Given the description of an element on the screen output the (x, y) to click on. 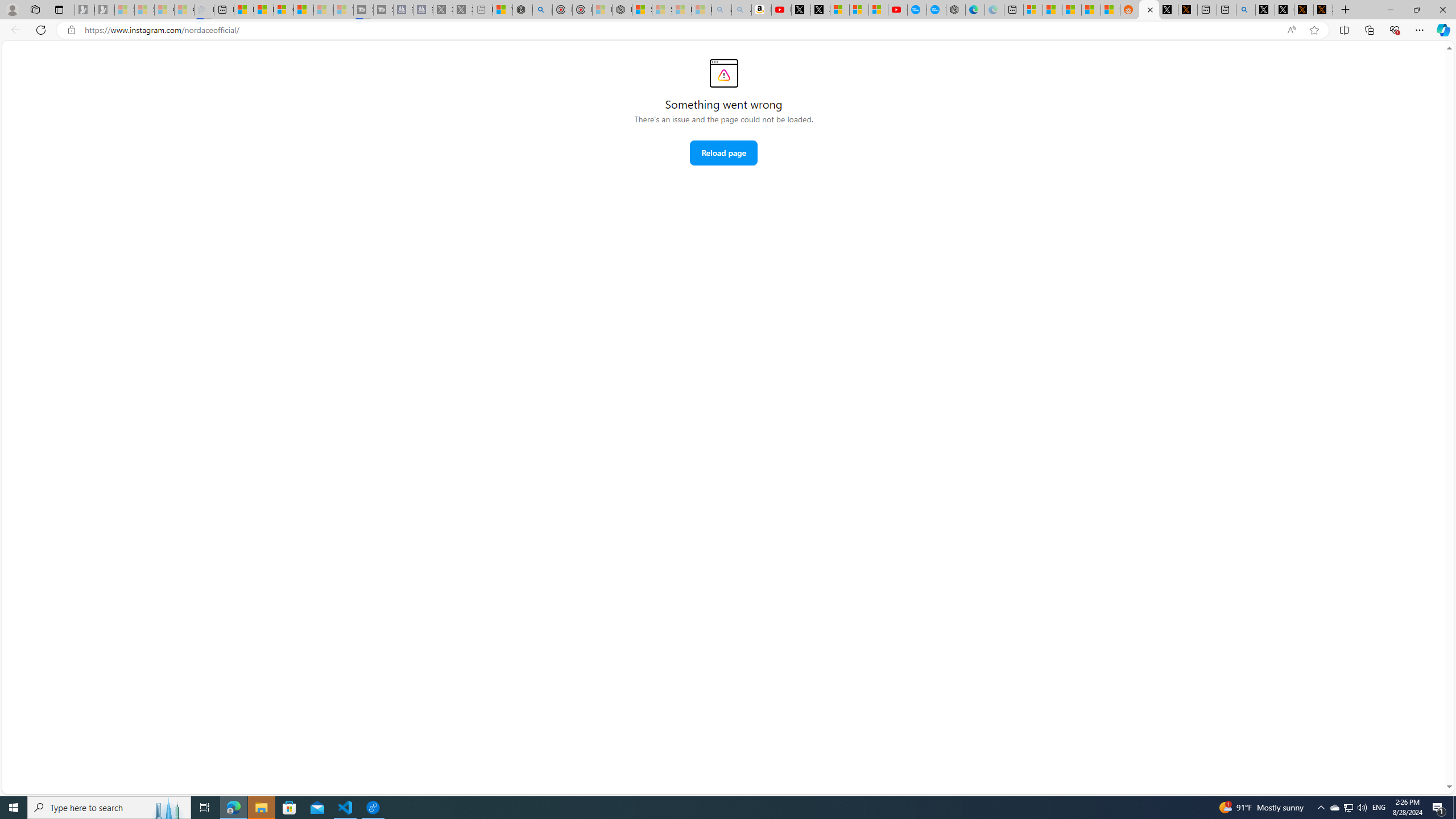
Reload page (723, 152)
X Privacy Policy (1323, 9)
GitHub (@github) / X (1283, 9)
Shanghai, China hourly forecast | Microsoft Weather (1071, 9)
